Given the description of an element on the screen output the (x, y) to click on. 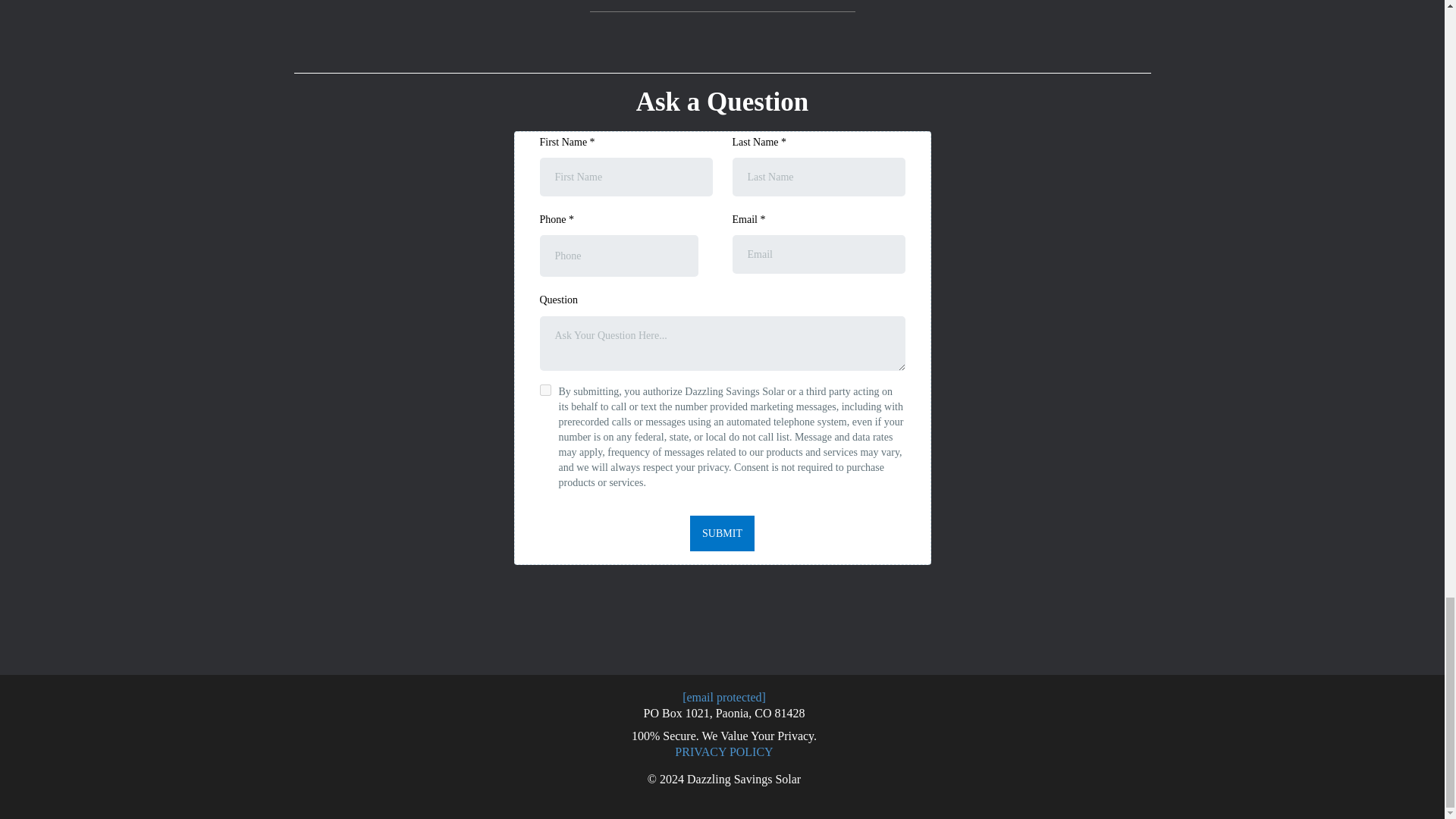
SUBMIT (722, 533)
PRIVACY POLICY (724, 751)
